Given the description of an element on the screen output the (x, y) to click on. 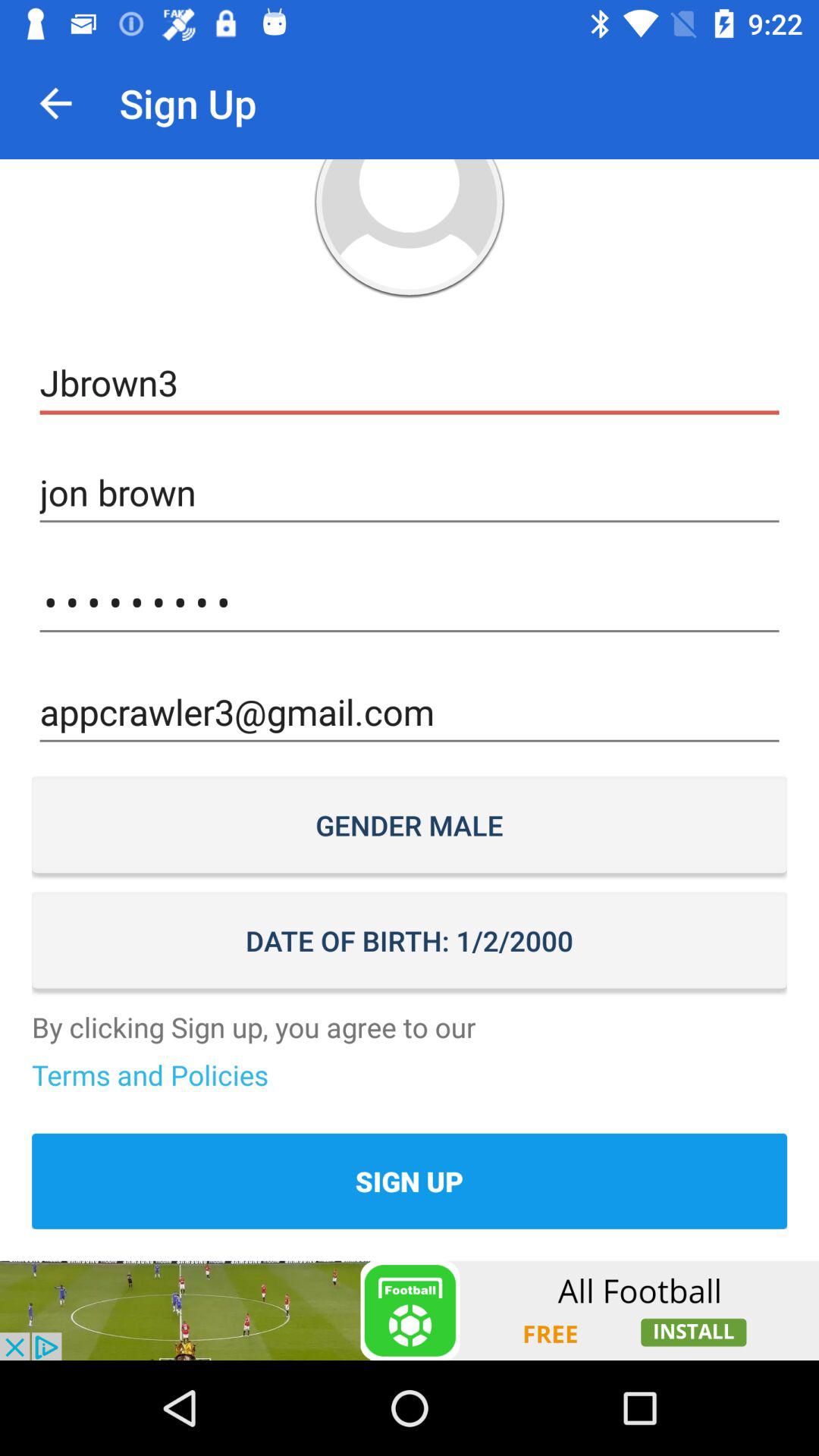
profile picture (409, 228)
